Given the description of an element on the screen output the (x, y) to click on. 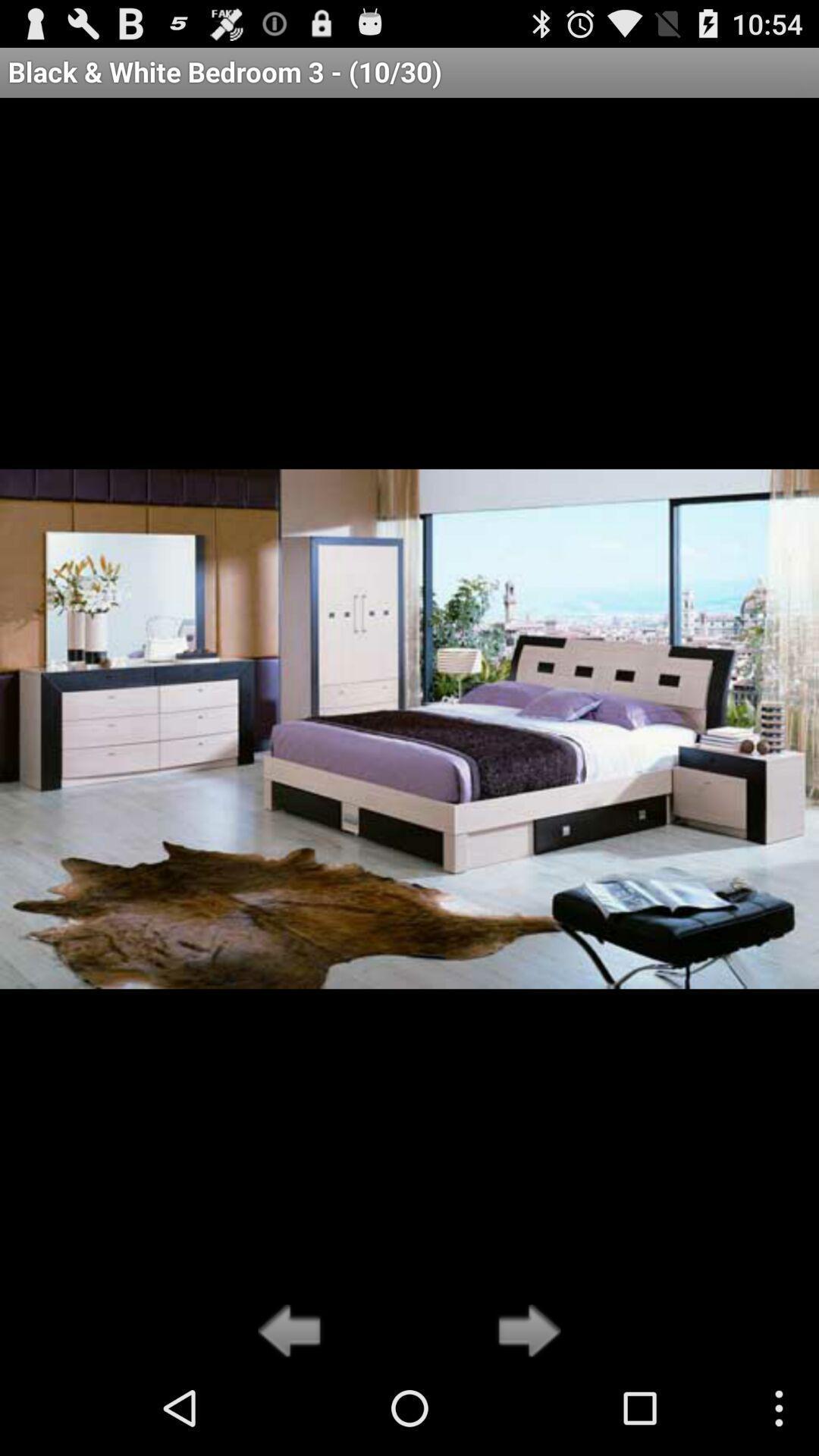
choose the icon below black white bedroom (524, 1332)
